Given the description of an element on the screen output the (x, y) to click on. 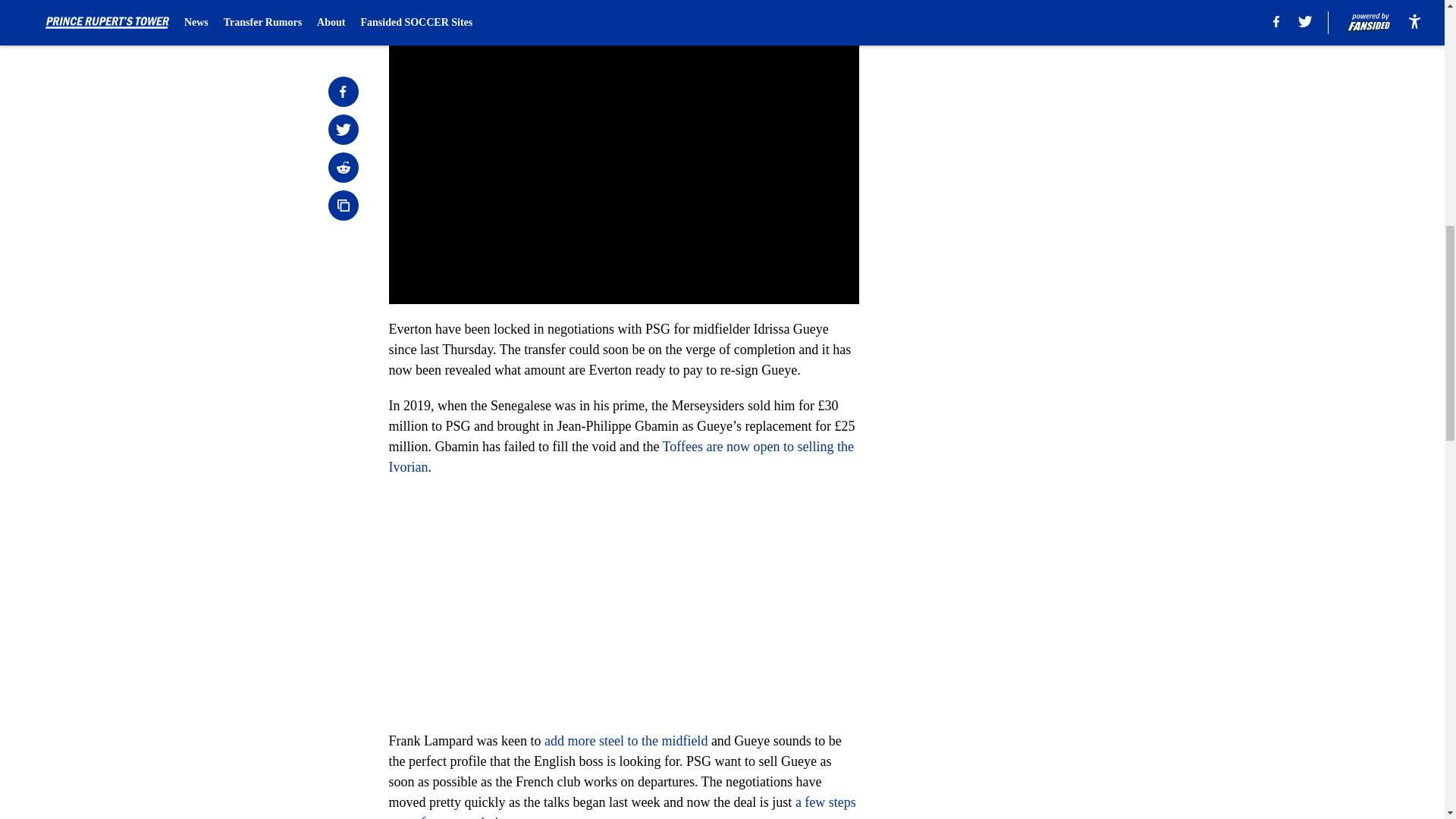
Toffees are now open to selling the Ivorian (620, 456)
a few steps away from completion (622, 806)
add more steel to the midfield (625, 740)
